Given the description of an element on the screen output the (x, y) to click on. 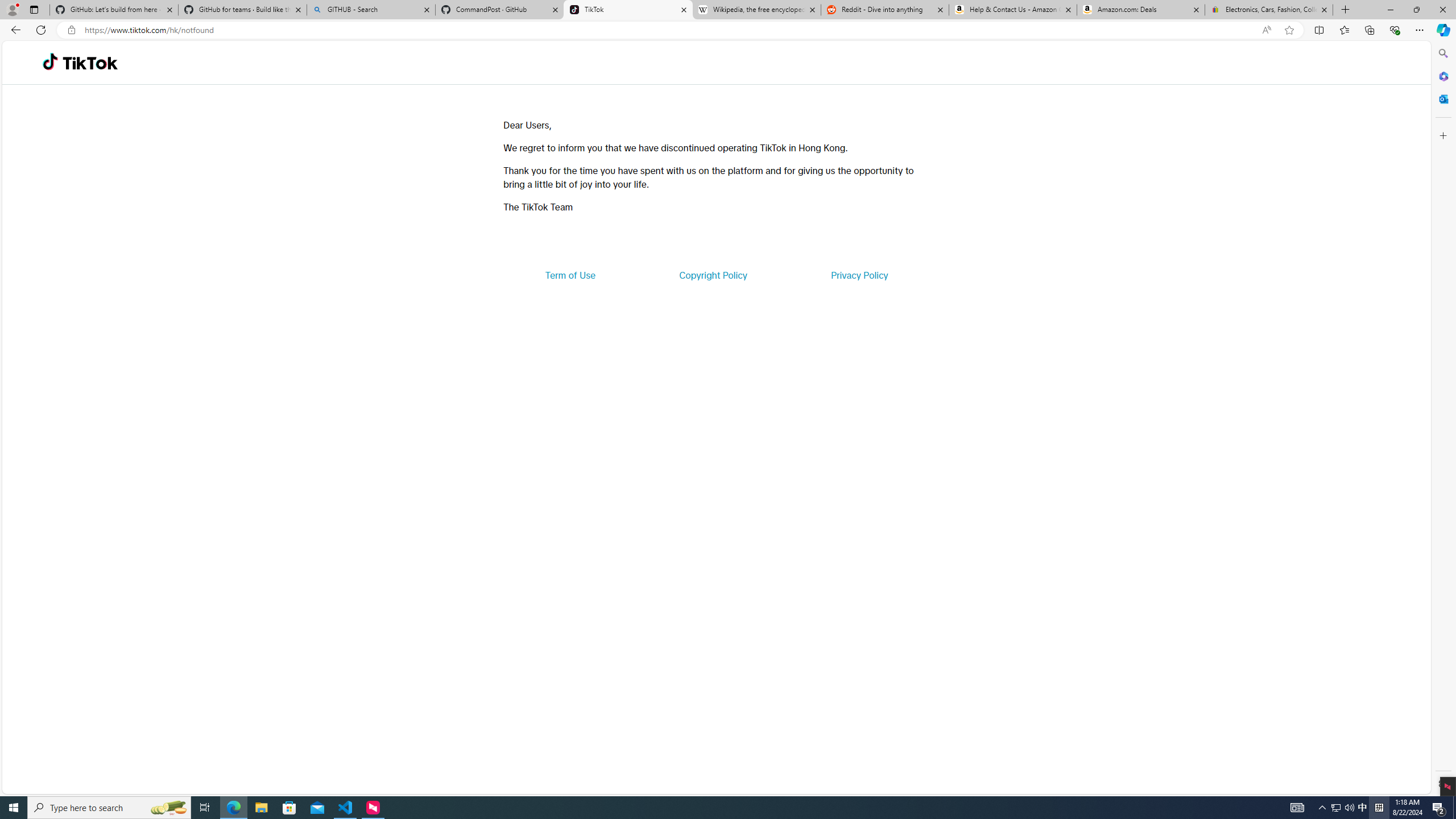
Search (1442, 53)
Close (1442, 9)
TikTok (89, 62)
TikTok (628, 9)
Help & Contact Us - Amazon Customer Service (1012, 9)
Restore (1416, 9)
App bar (728, 29)
Tab actions menu (33, 9)
Privacy Policy (858, 274)
Collections (1369, 29)
Electronics, Cars, Fashion, Collectibles & More | eBay (1268, 9)
Back (13, 29)
Customize (1442, 135)
GITHUB - Search (370, 9)
